Given the description of an element on the screen output the (x, y) to click on. 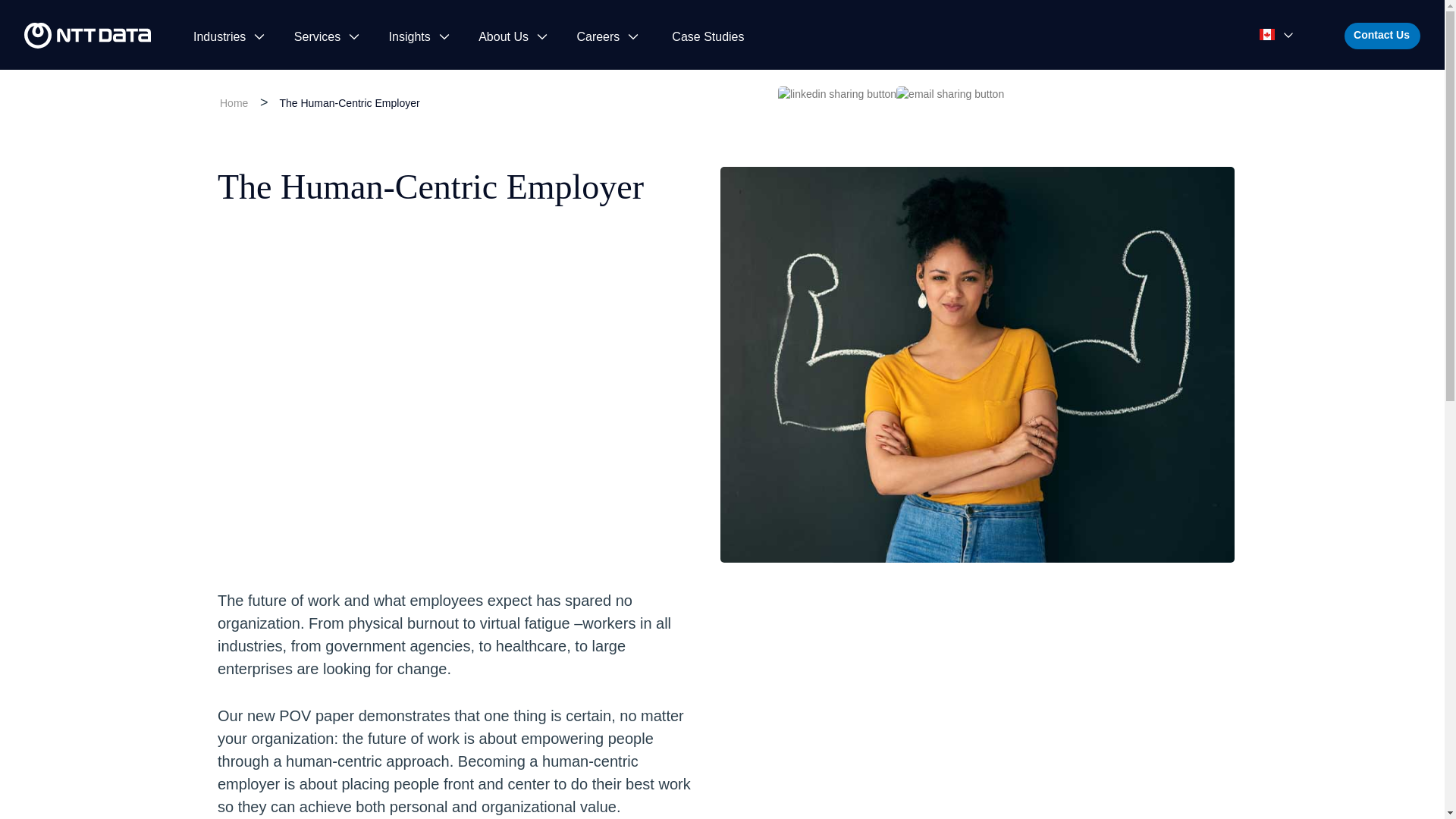
Image (87, 35)
Industries (225, 36)
Home (233, 102)
Services (323, 36)
The Human Centric Employer (347, 101)
Case Studies (707, 36)
